Given the description of an element on the screen output the (x, y) to click on. 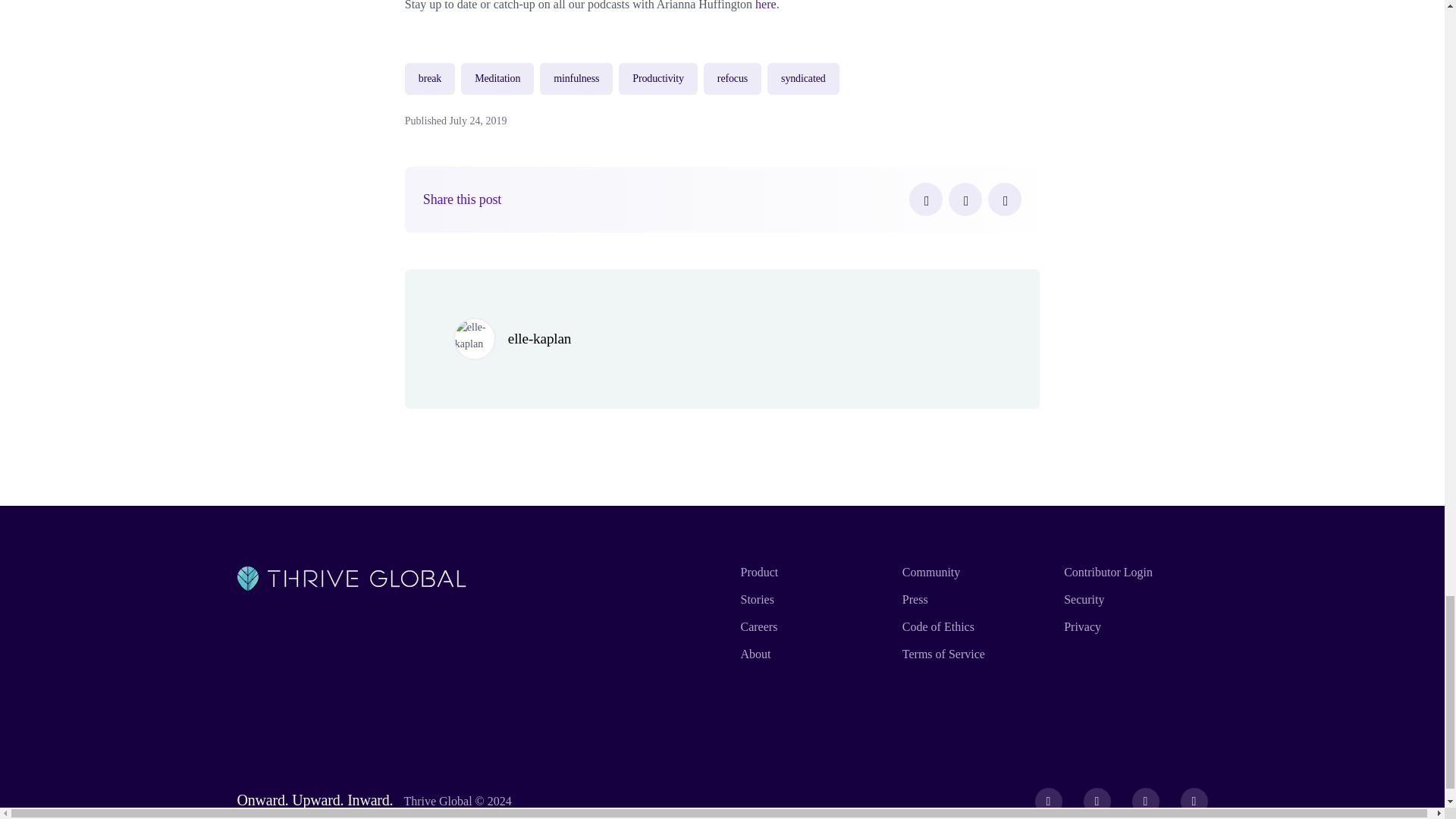
Facebook (925, 199)
elle-kaplan (539, 338)
Twitter (965, 199)
LinkedIn (1005, 199)
